Given the description of an element on the screen output the (x, y) to click on. 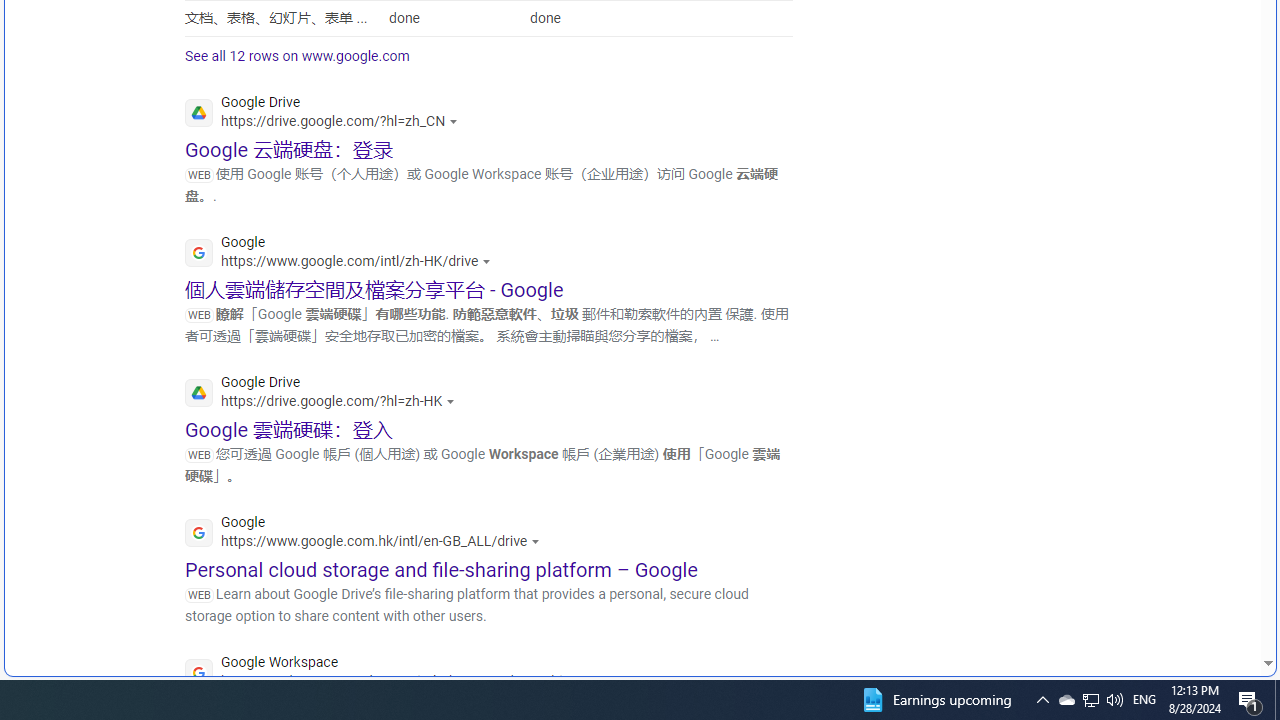
Google Drive (325, 394)
Google Workspace (392, 674)
Search more (1222, 604)
Global web icon (198, 673)
AutomationID: mfa_root (1192, 603)
Actions for this site (588, 681)
Google (367, 534)
